Given the description of an element on the screen output the (x, y) to click on. 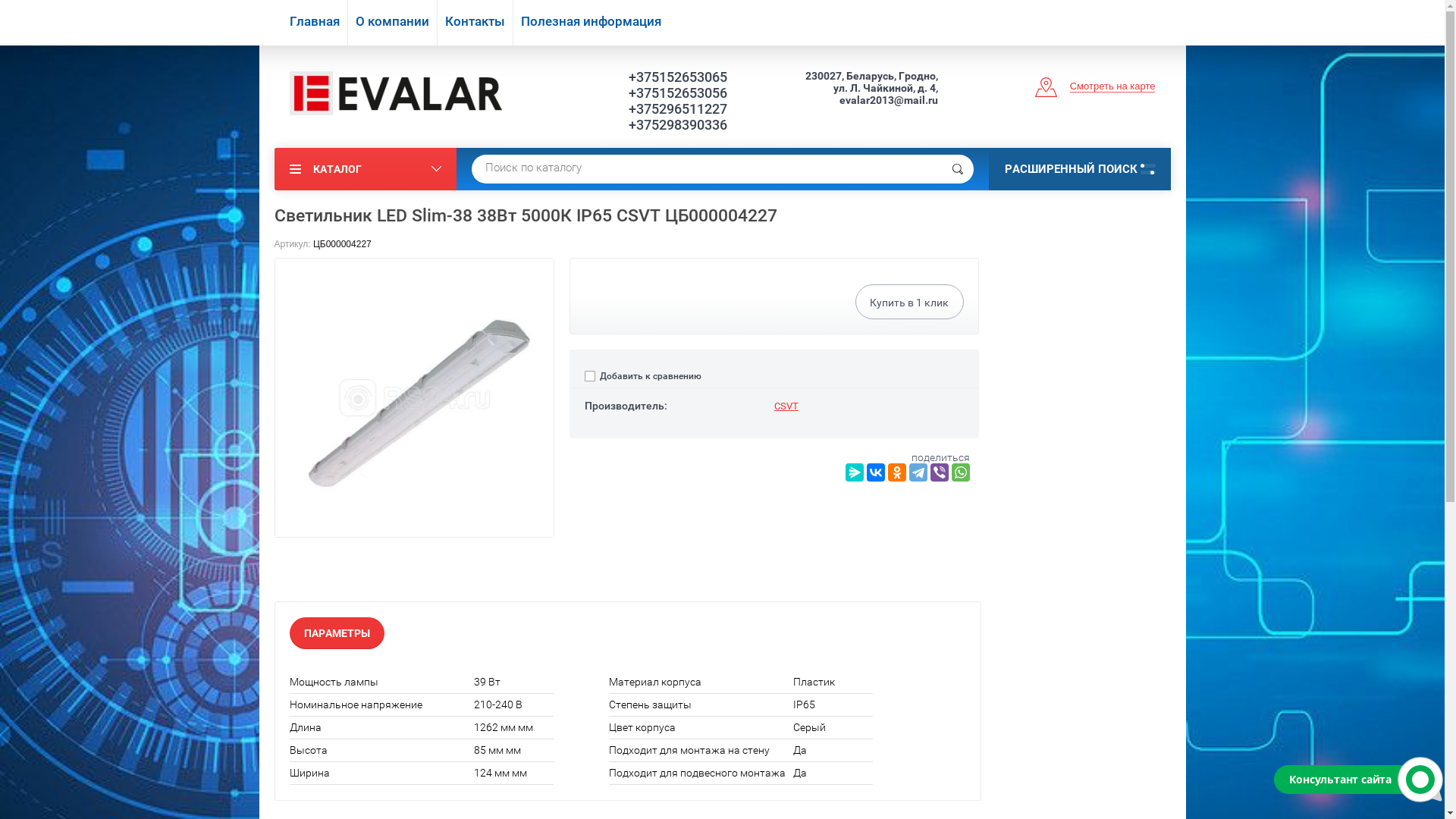
CSVT Element type: text (786, 405)
+375298390336 Element type: text (667, 124)
Viber Element type: hover (939, 472)
WhatsApp Element type: hover (960, 472)
+375296511227 Element type: text (667, 108)
+375152653065 Element type: text (667, 76)
+375152653056 Element type: text (667, 92)
Telegram Element type: hover (918, 472)
